Given the description of an element on the screen output the (x, y) to click on. 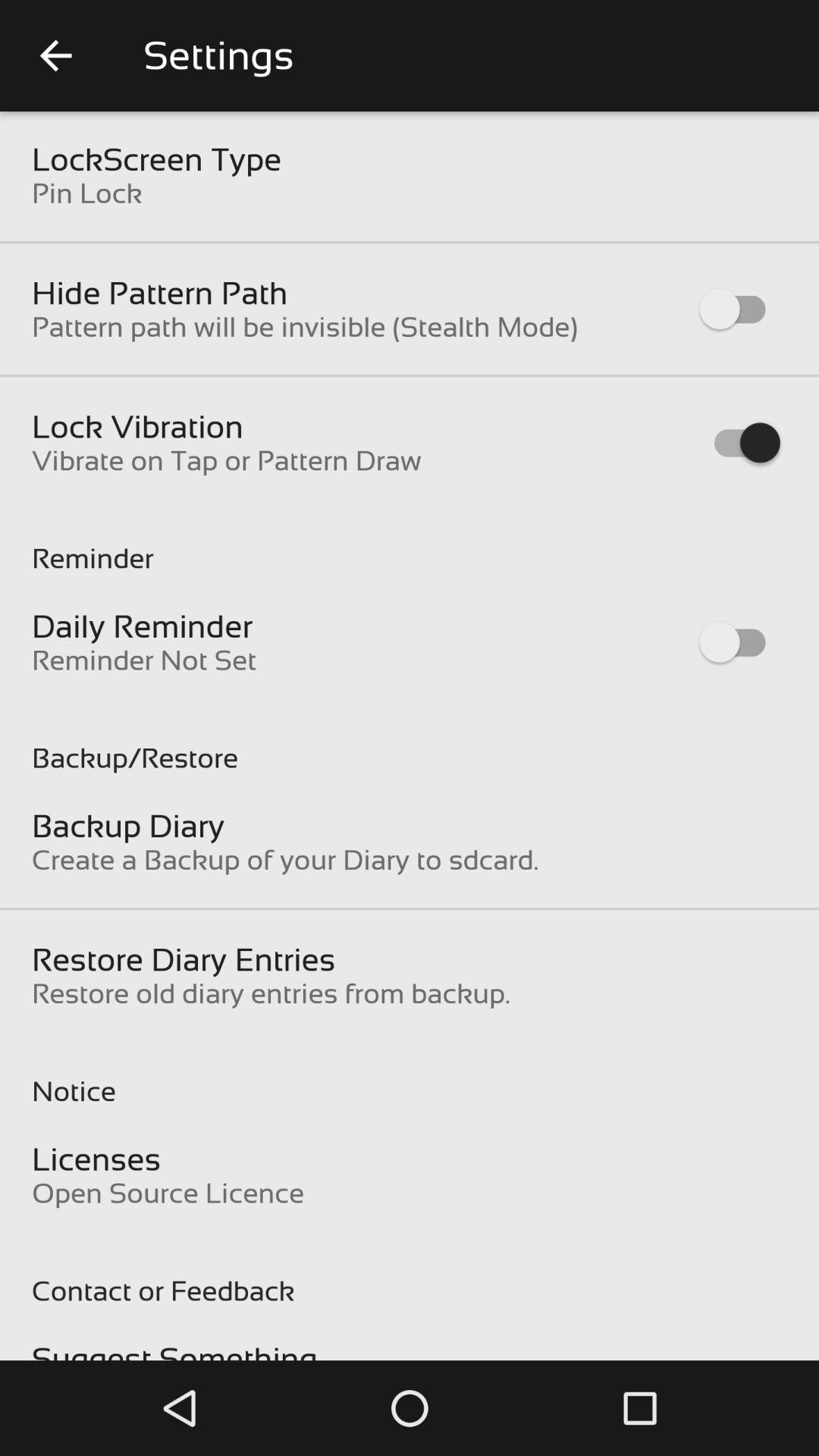
swipe to lock vibration icon (137, 426)
